Given the description of an element on the screen output the (x, y) to click on. 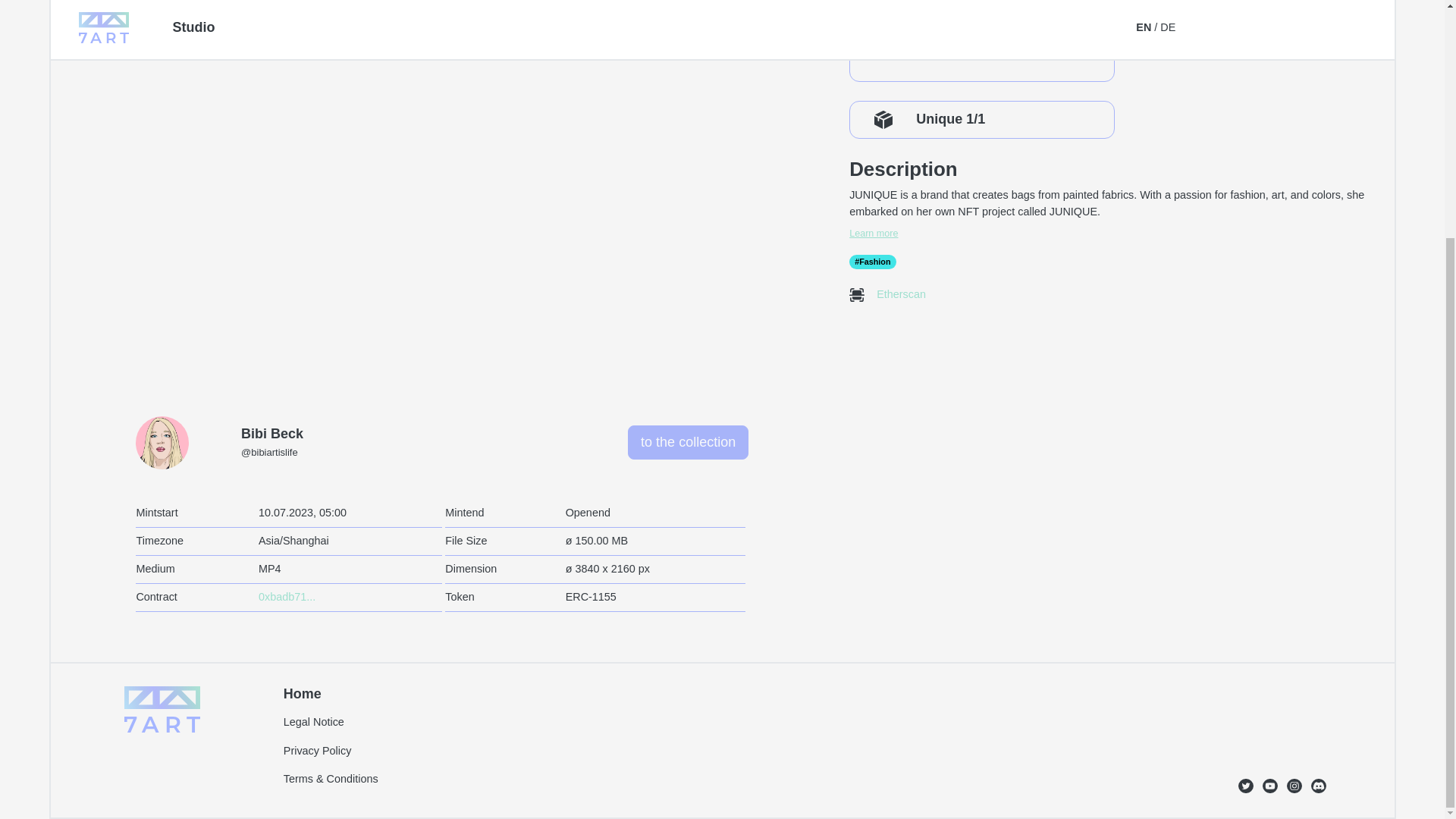
Privacy Policy (924, 21)
to the collection (687, 442)
Learn more (1113, 233)
0xbadb71... (287, 596)
1 (866, 5)
Etherscan (896, 294)
Privacy Policy (317, 750)
Monday, 10. July 2023, 05:00 (302, 512)
Legal Notice (313, 721)
